Given the description of an element on the screen output the (x, y) to click on. 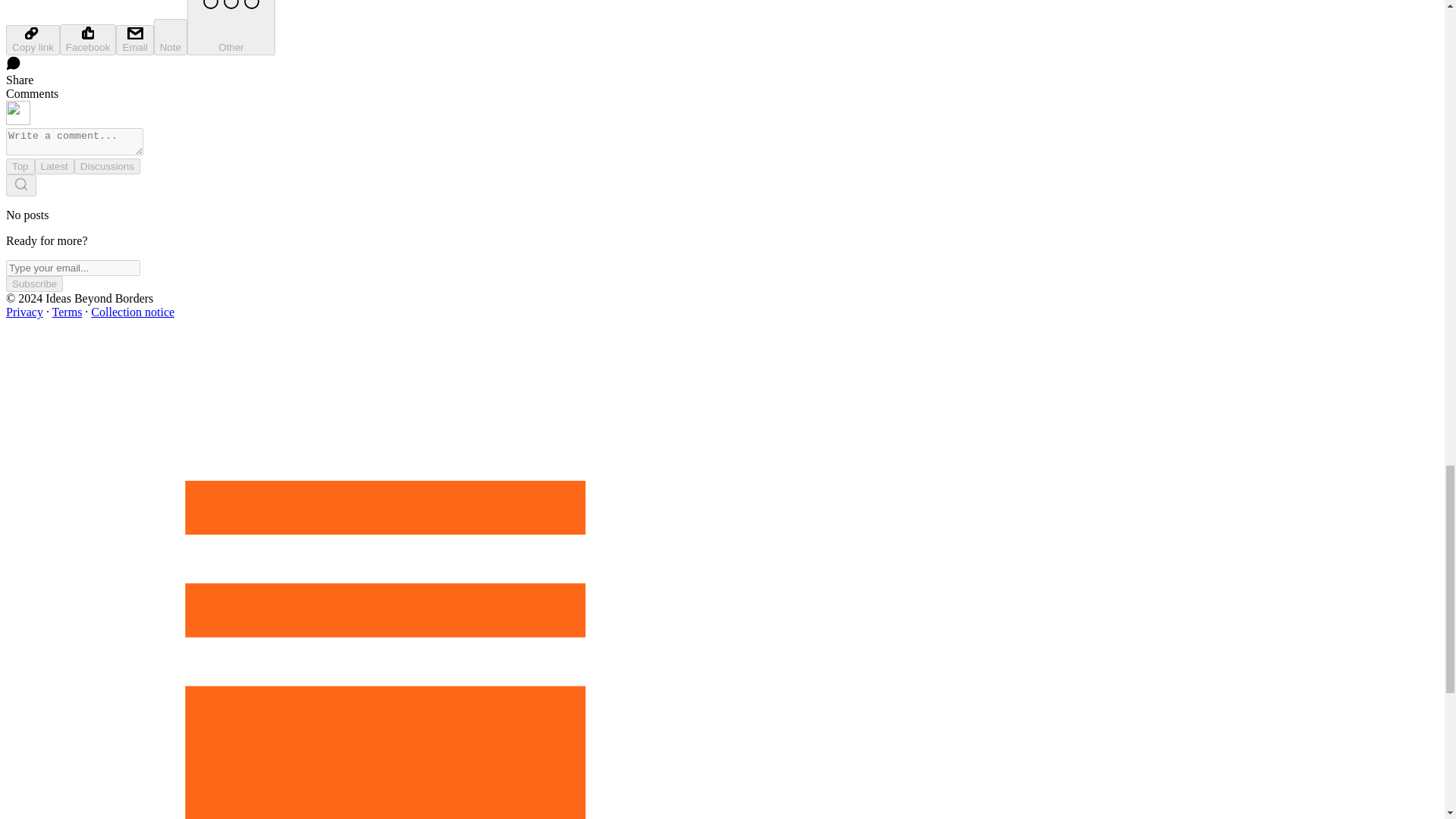
Facebook (87, 39)
Email (134, 40)
Copy link (32, 40)
Other (231, 27)
Note (170, 36)
